Given the description of an element on the screen output the (x, y) to click on. 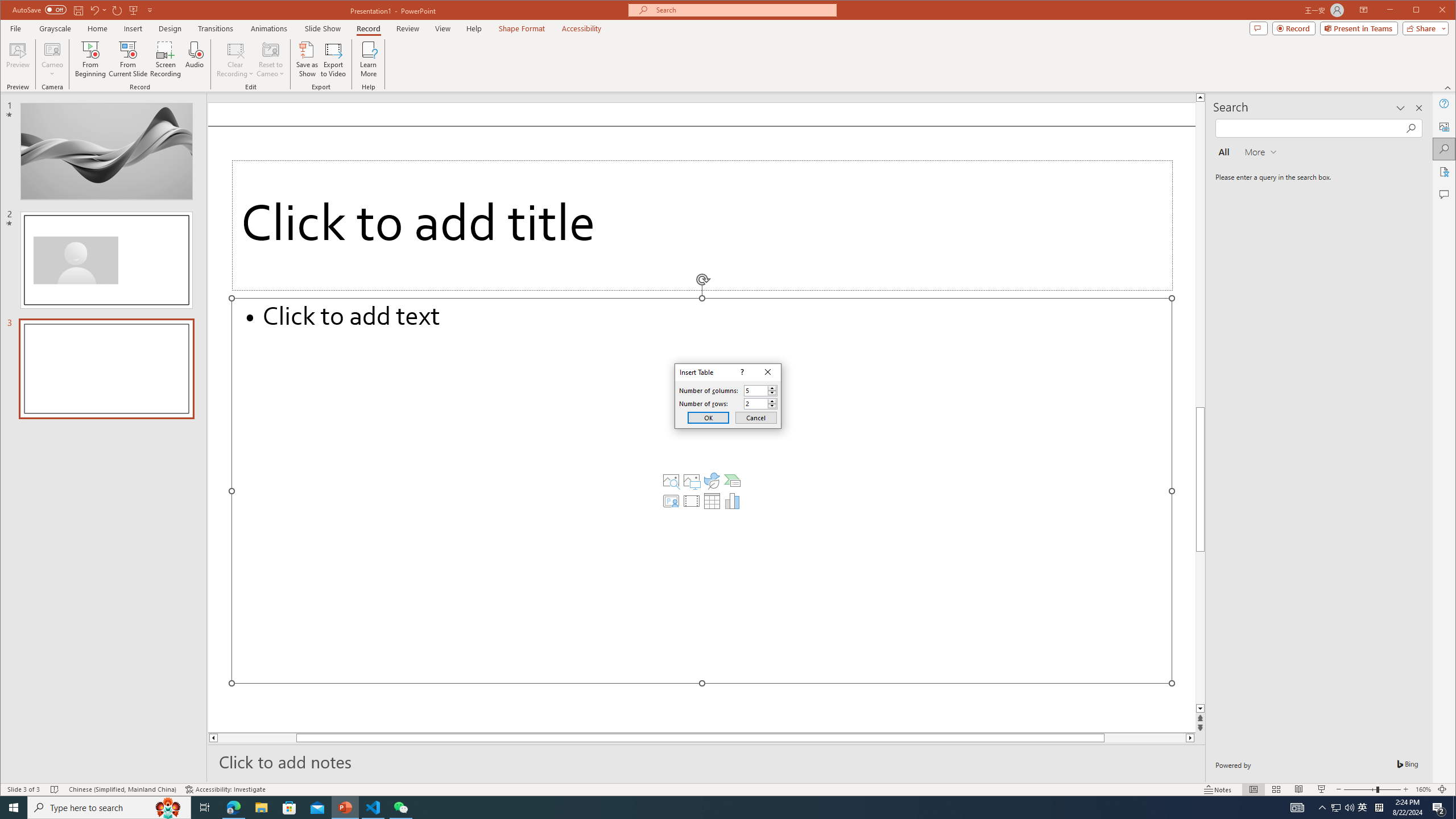
Learn More (368, 59)
Screen Recording (165, 59)
From Beginning... (90, 59)
Insert Video (691, 501)
Insert an Icon (711, 480)
